Given the description of an element on the screen output the (x, y) to click on. 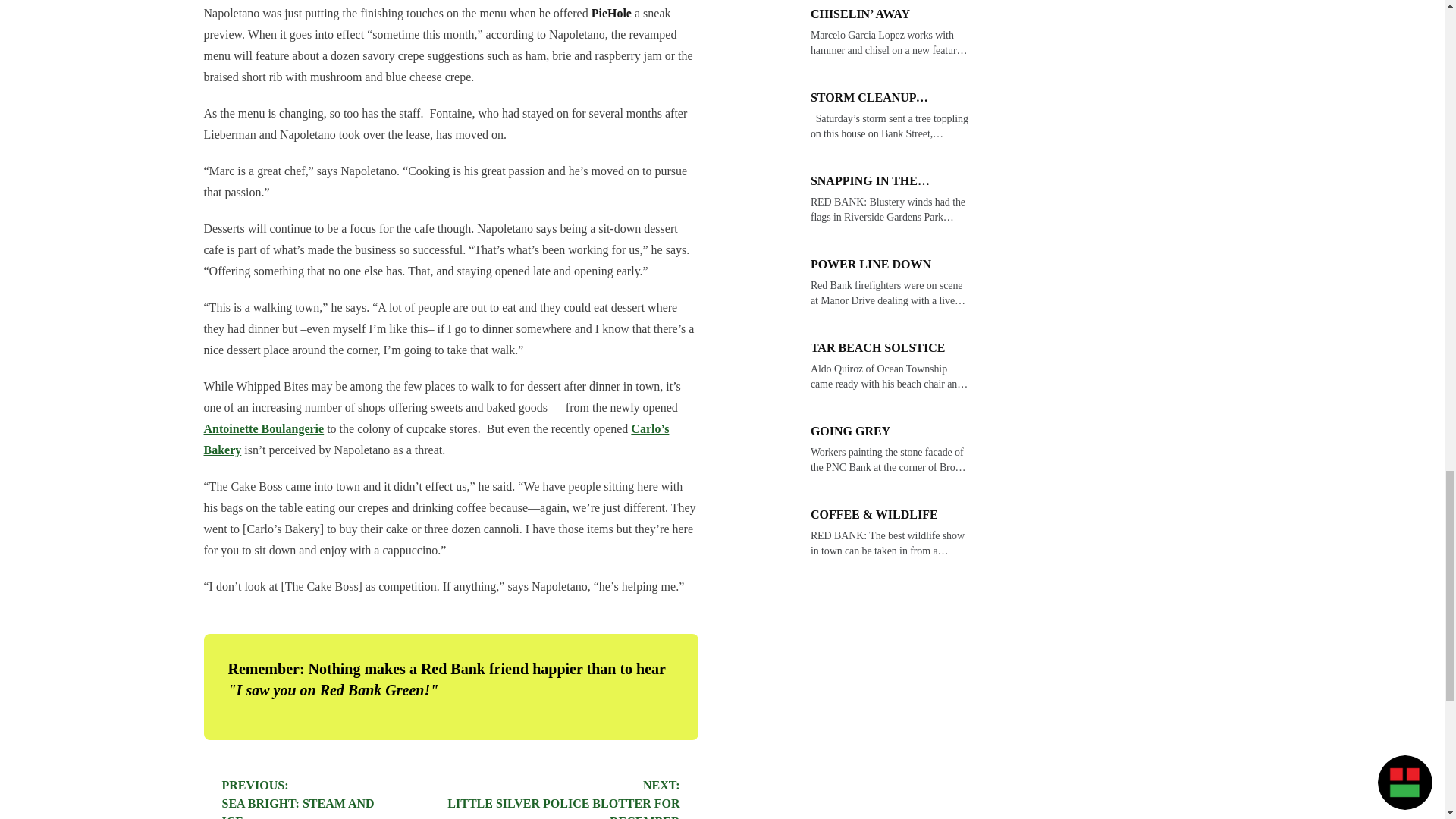
Antoinette Boulangerie (297, 798)
